Given the description of an element on the screen output the (x, y) to click on. 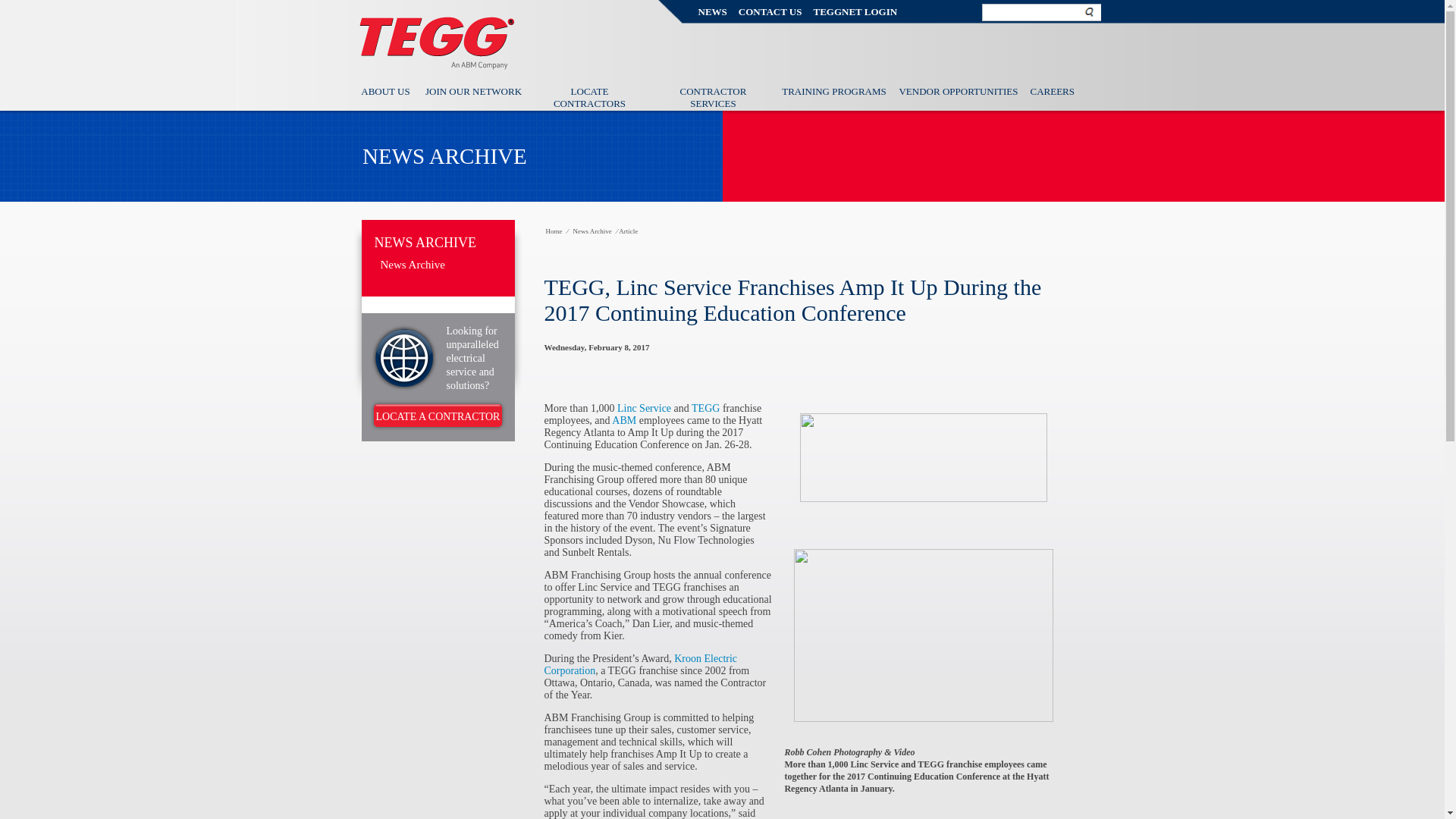
Search (1089, 11)
LOCATE CONTRACTORS (589, 96)
TEGG (706, 408)
NEWS ARCHIVE (425, 246)
ABOUT US (385, 91)
CAREERS (1051, 91)
Search (1089, 11)
CONTACT US (770, 11)
LOCATE A CONTRACTOR (438, 415)
TEGGNET LOGIN (854, 11)
Linc Service (644, 408)
Kroon Electric Corporation (641, 664)
Home (554, 231)
News Archive (412, 264)
ABM (623, 419)
